Given the description of an element on the screen output the (x, y) to click on. 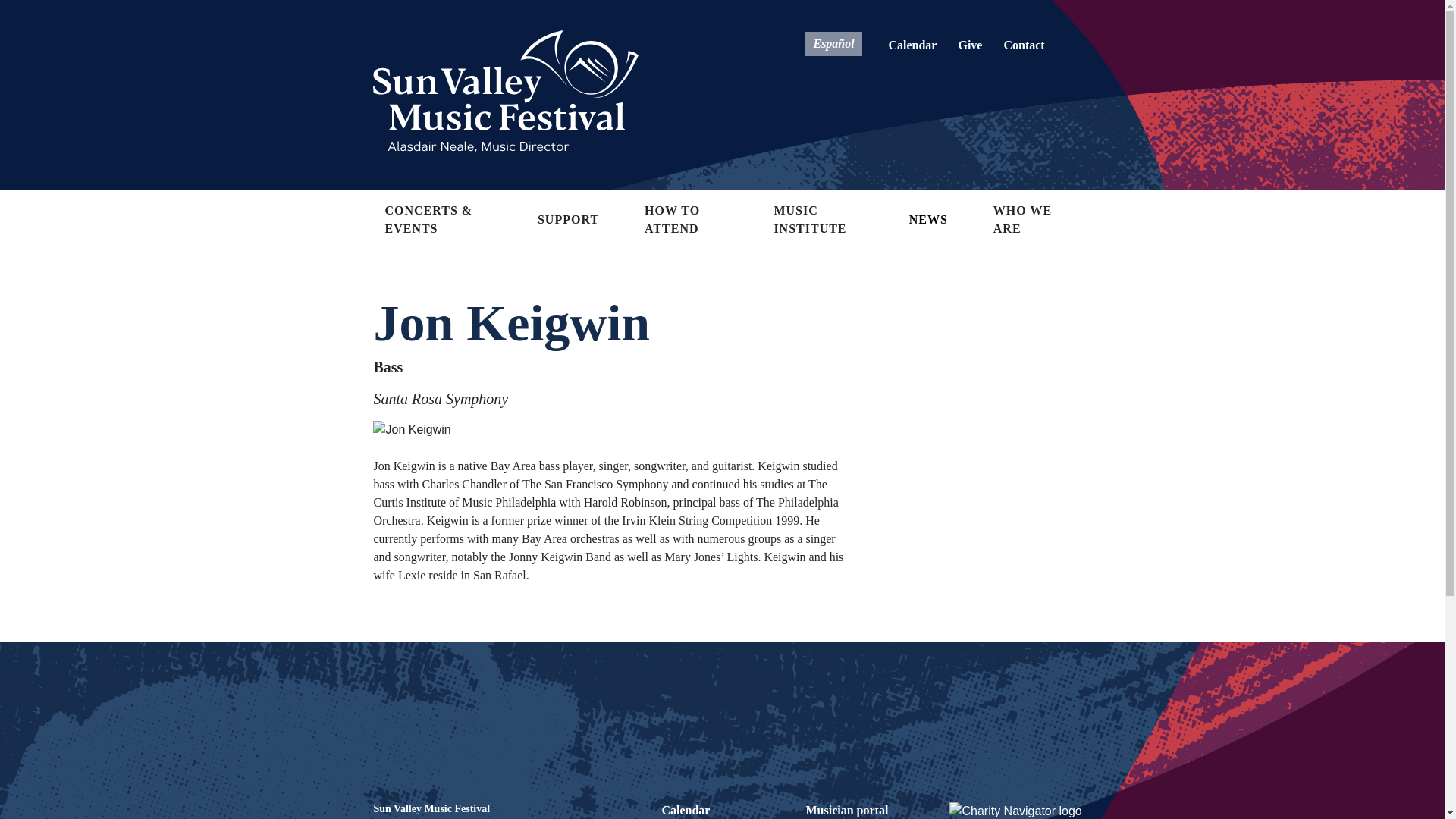
Contact (1023, 45)
MUSIC INSTITUTE (809, 219)
Calendar (912, 45)
Give (969, 45)
Language switcher : Spanish (832, 42)
SUPPORT (567, 219)
